Given the description of an element on the screen output the (x, y) to click on. 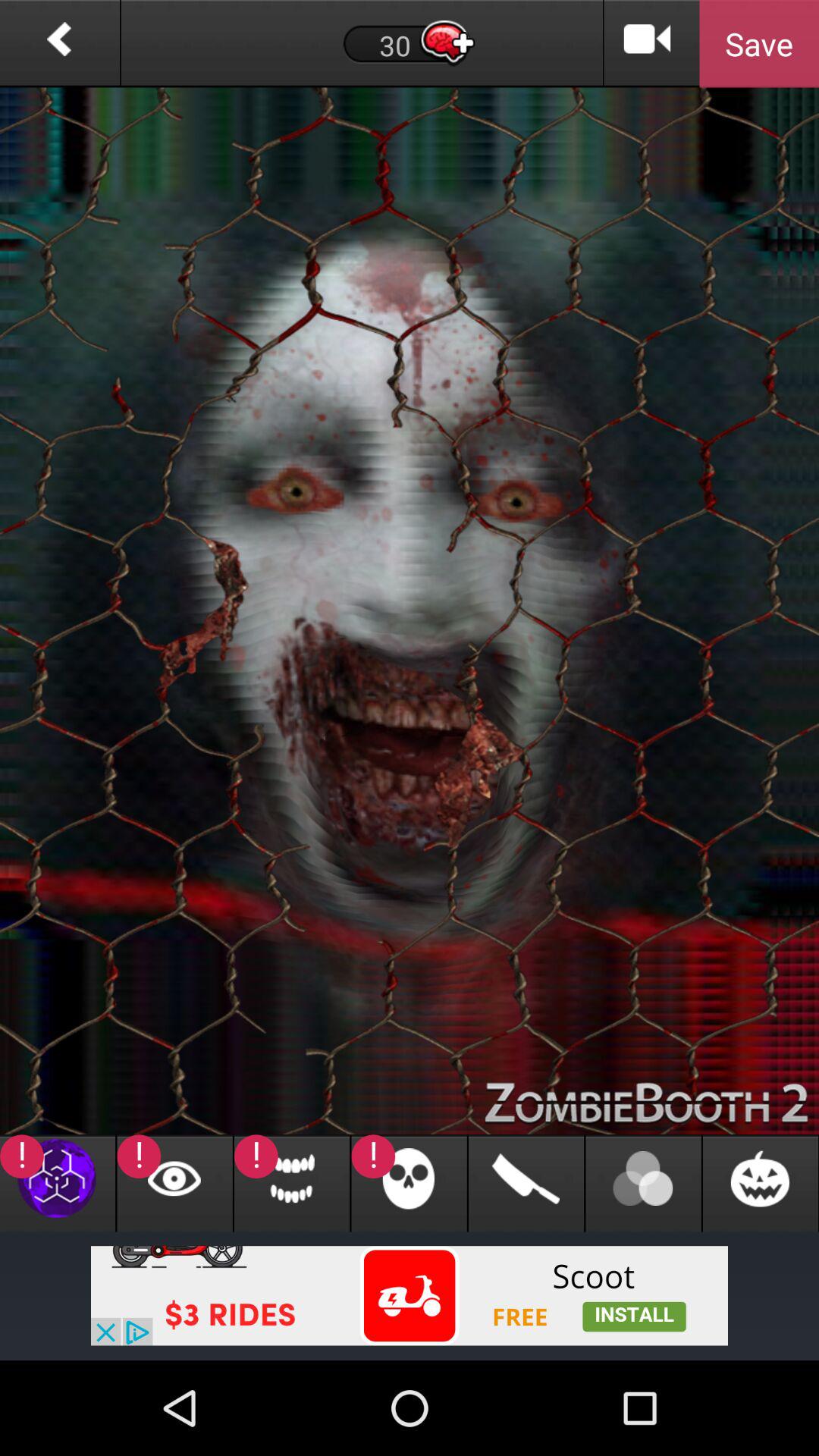
go back (59, 43)
